Given the description of an element on the screen output the (x, y) to click on. 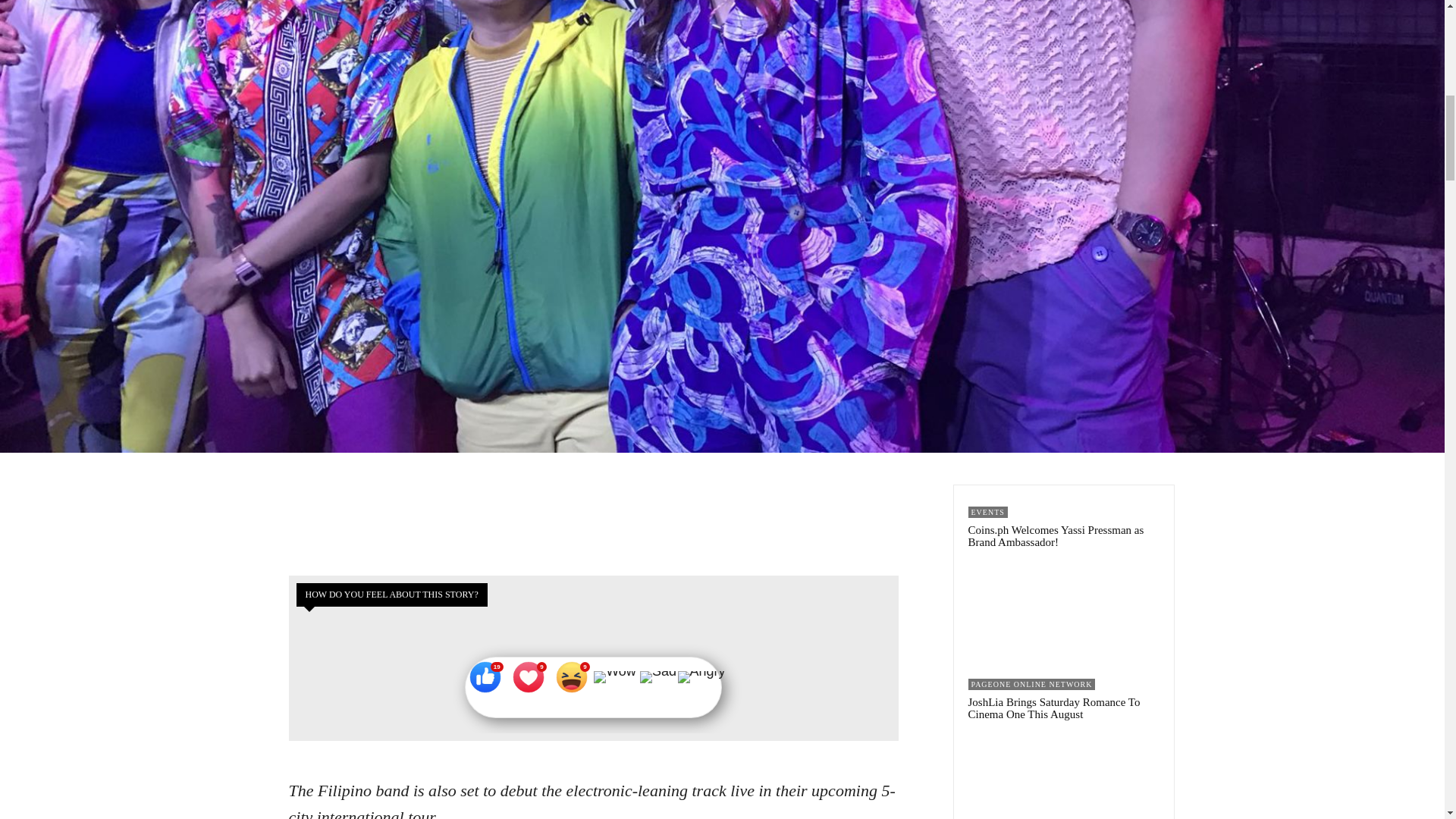
PAGEONE ONLINE NETWORK (1031, 684)
Coins.ph Welcomes Yassi Pressman as Brand Ambassador! (1055, 536)
EVENTS (987, 511)
